Given the description of an element on the screen output the (x, y) to click on. 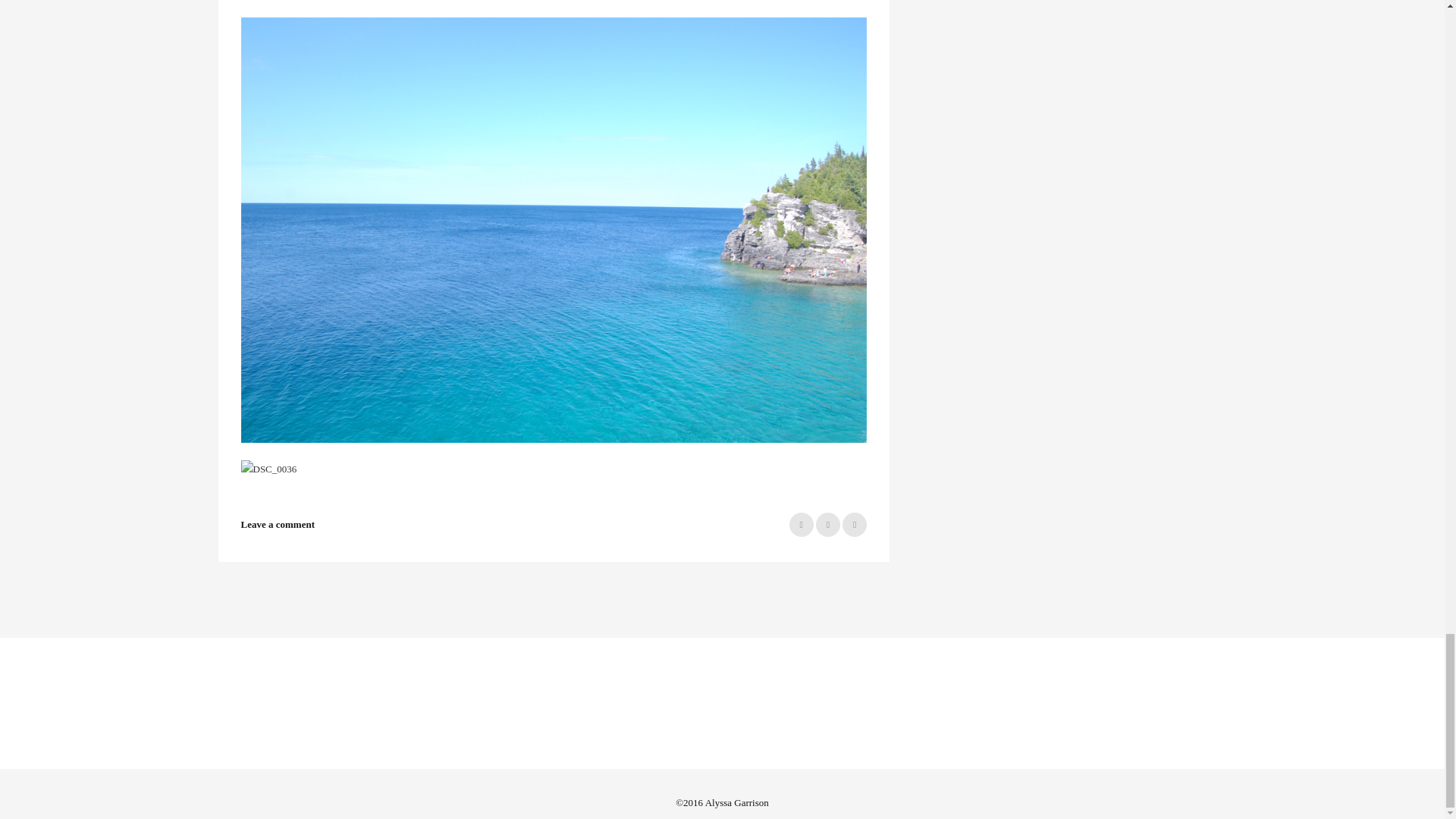
Leave a comment (277, 523)
